Given the description of an element on the screen output the (x, y) to click on. 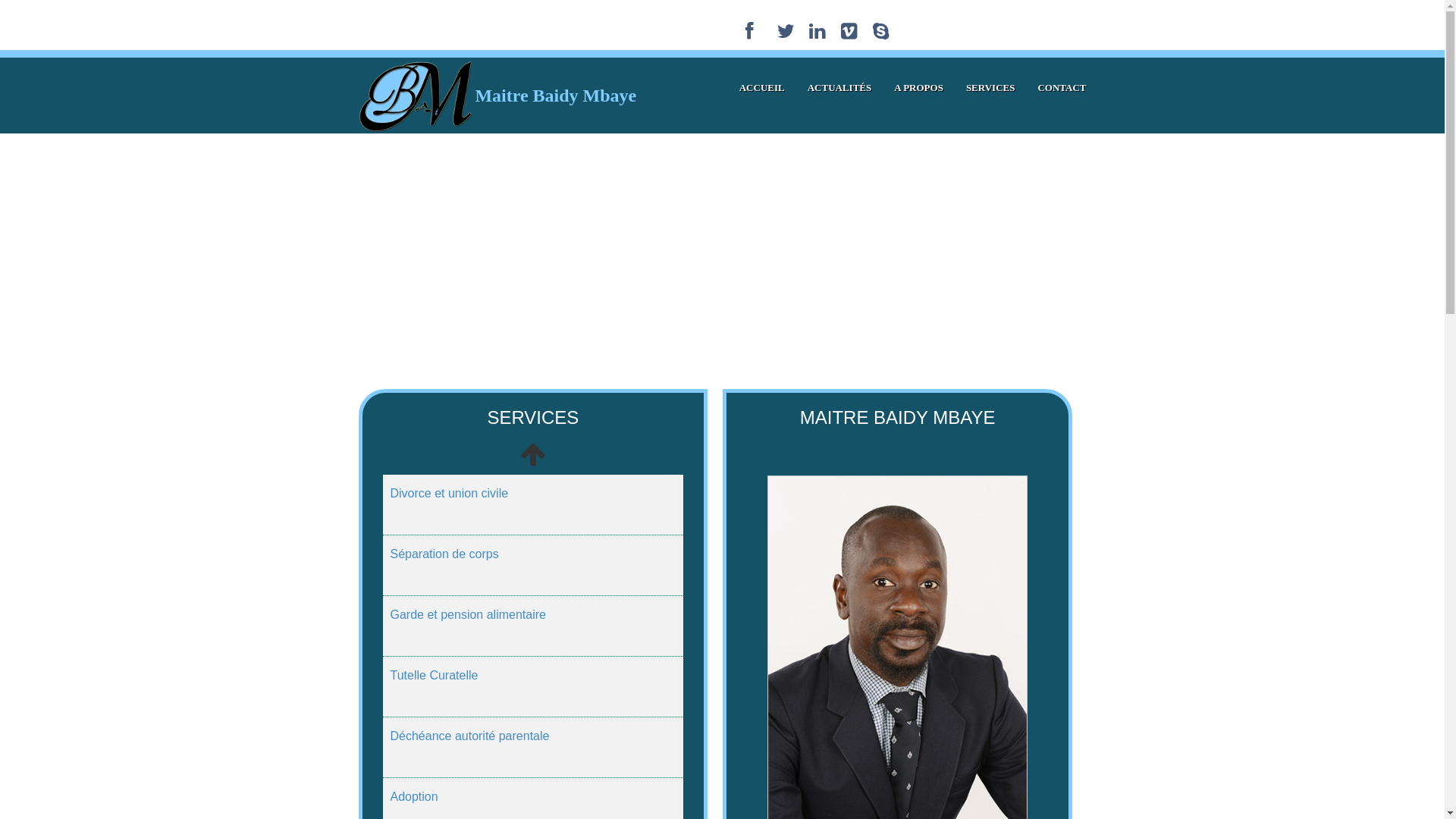
Garde et pension alimentaire Element type: text (467, 614)
A PROPOS Element type: text (918, 87)
CONTACT Element type: text (1061, 87)
SERVICES Element type: text (990, 87)
Tutelle Curatelle Element type: text (433, 674)
ACCUEIL Element type: text (761, 87)
Adoption Element type: text (413, 796)
Divorce et union civile Element type: text (448, 492)
